Given the description of an element on the screen output the (x, y) to click on. 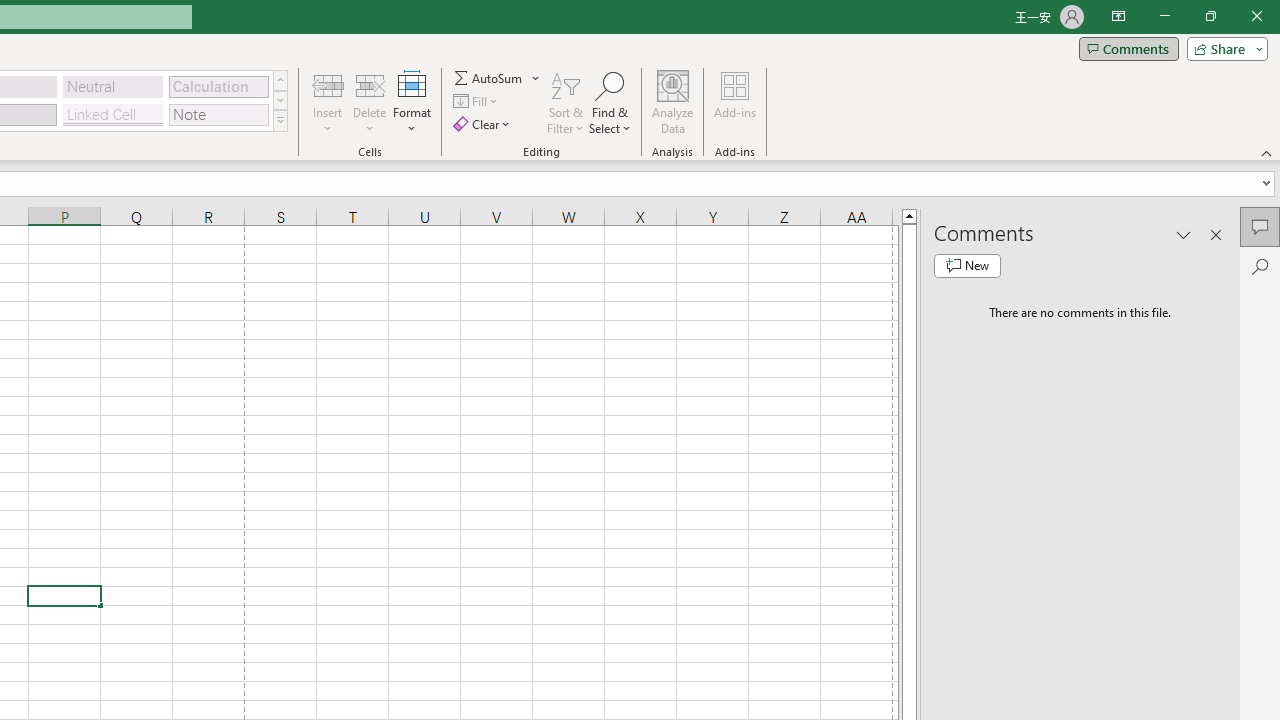
Delete Cells... (369, 84)
Calculation (218, 86)
Sort & Filter (566, 102)
Find & Select (610, 102)
AutoSum (497, 78)
Fill (477, 101)
Analyze Data (673, 102)
Neutral (113, 86)
